Given the description of an element on the screen output the (x, y) to click on. 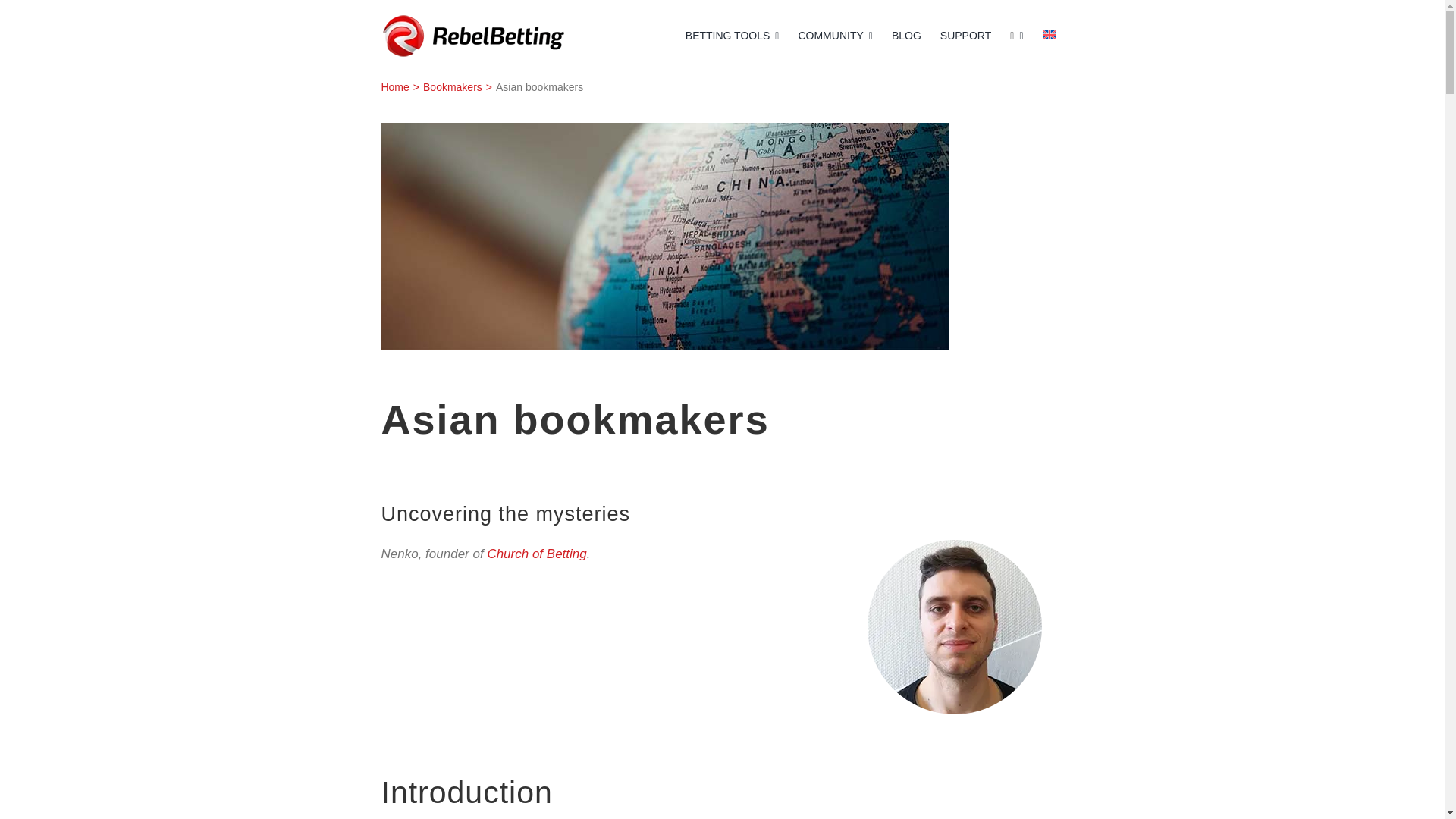
Church of Betting (536, 554)
COMMUNITY (834, 36)
BETTING TOOLS (732, 36)
The RebelBetting Blog (905, 36)
Asian bookmakers (664, 236)
Get support for RebelBetting (965, 36)
Home (394, 87)
SUPPORT (965, 36)
Bookmakers (452, 87)
BLOG (721, 85)
Nenko (905, 36)
